Given the description of an element on the screen output the (x, y) to click on. 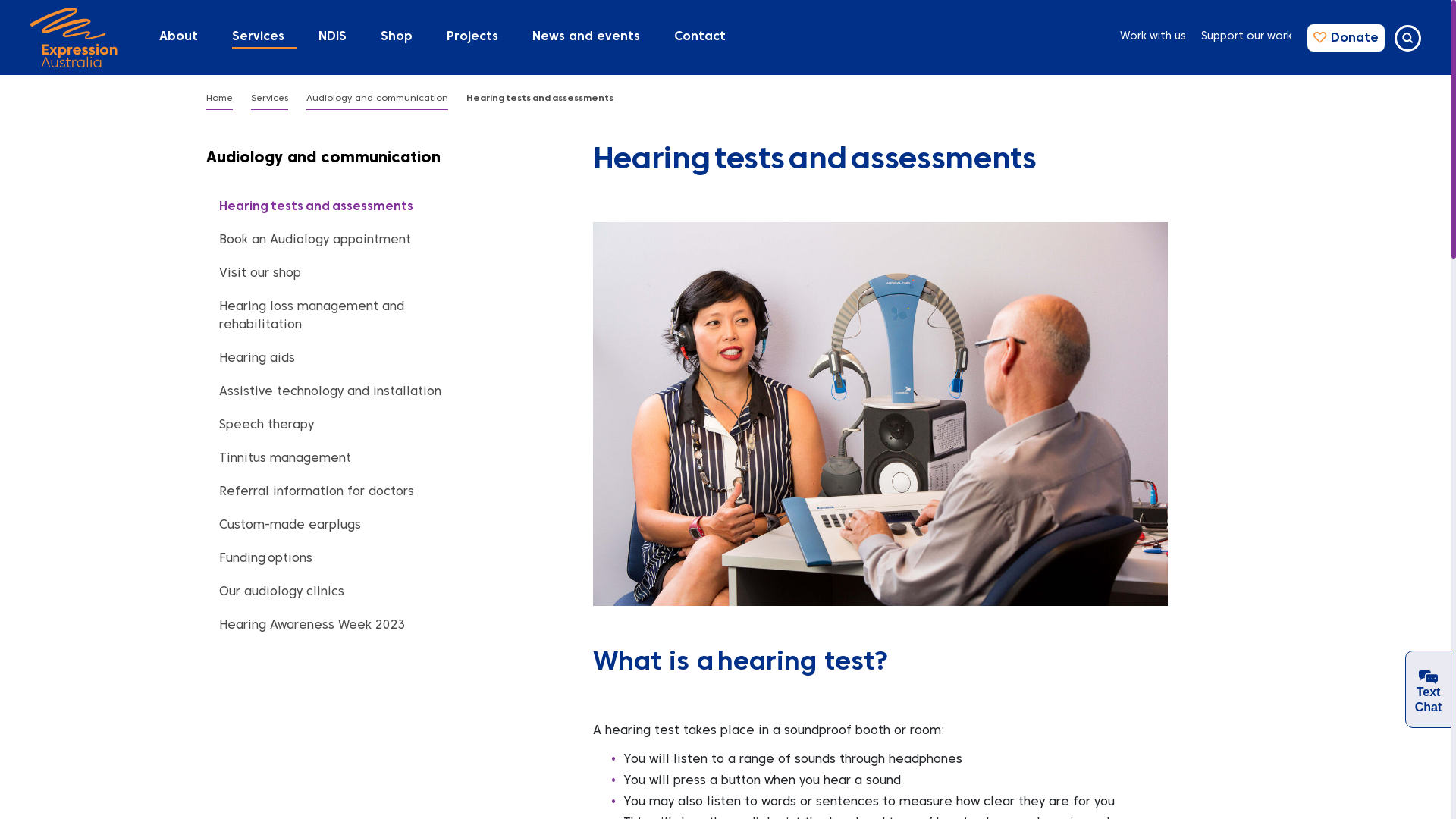
Custom-made earplugs Element type: text (291, 525)
About Element type: text (184, 37)
Hearing aids Element type: text (252, 358)
Referral information for doctors Element type: text (313, 492)
Donate Element type: text (1345, 37)
Audiology and communication Element type: text (377, 98)
Home Element type: text (219, 98)
News and events Element type: text (591, 37)
Contact Element type: text (705, 37)
Tinnitus management Element type: text (281, 458)
Book an Audiology appointment Element type: text (311, 240)
Assistive technology and installation Element type: text (326, 391)
Our audiology clinics Element type: text (277, 592)
Hearing loss management and rehabilitation Element type: text (329, 316)
Services Element type: text (269, 98)
Projects Element type: text (477, 37)
Shop Element type: text (401, 37)
Hearing Awareness Week 2023 Element type: text (308, 625)
Services Element type: text (263, 37)
NDIS Element type: text (337, 37)
Work with us Element type: text (1153, 37)
Speech therapy Element type: text (262, 425)
Support our work Element type: text (1246, 37)
Audiology and communication Element type: text (323, 158)
Visit our shop Element type: text (256, 273)
